Given the description of an element on the screen output the (x, y) to click on. 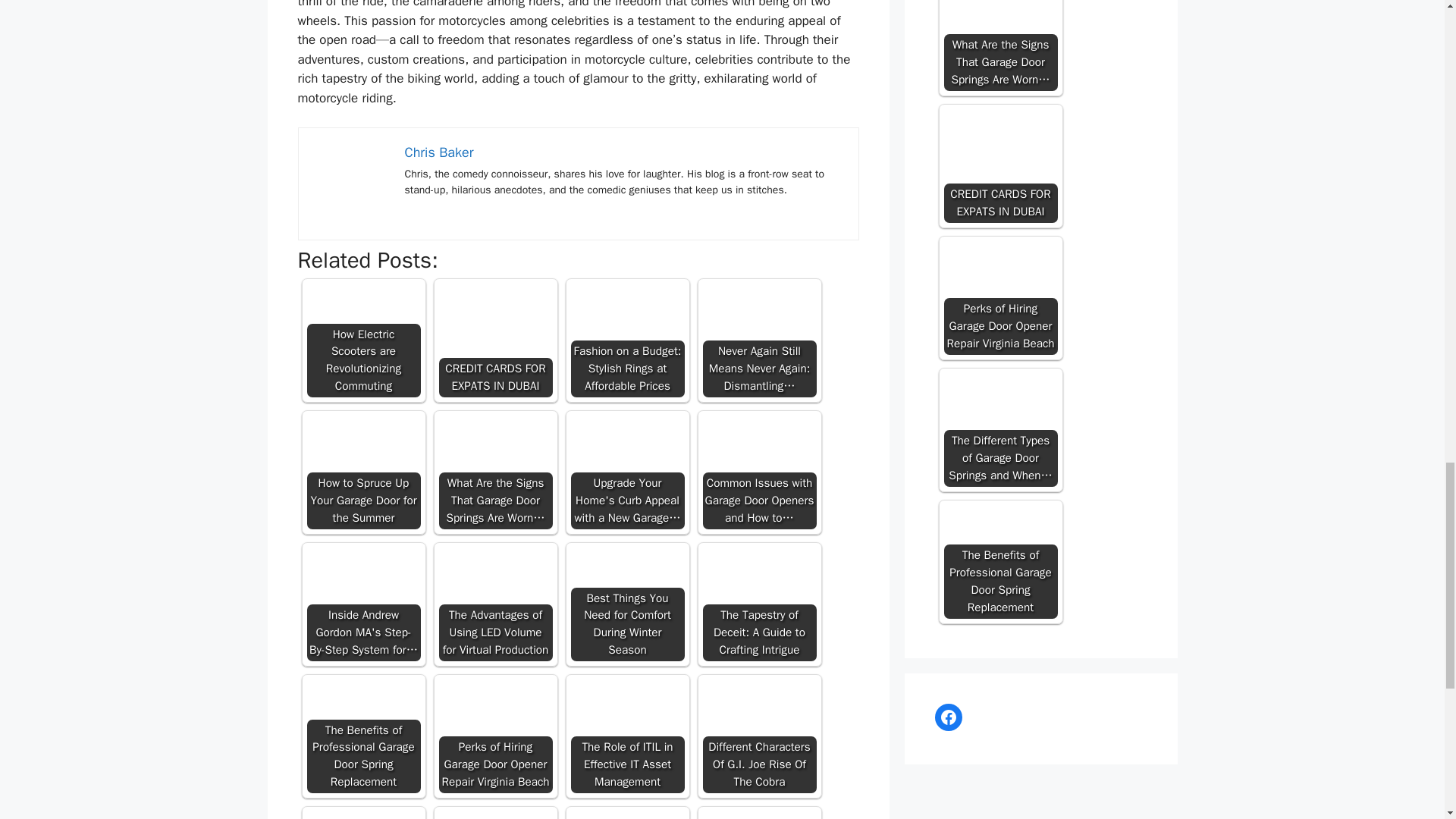
The Benefits of Professional Garage Door Spring Replacement (362, 721)
The Advantages of Using LED Volume for Virtual Production (494, 603)
The Tapestry of Deceit: A Guide to Crafting Intrigue (758, 603)
How Electric Scooters are Revolutionizing Commuting (362, 321)
Fashion on a Budget: Stylish Rings at Affordable Prices (627, 340)
The Role of ITIL in Effective IT Asset Management (627, 736)
Different Characters Of G.I. Joe Rise Of The Cobra (758, 721)
Chris Baker (352, 181)
How to Spruce Up Your Garage Door for the Summer (362, 458)
CREDIT CARDS FOR EXPATS IN DUBAI (494, 318)
Chris Baker (439, 152)
